Given the description of an element on the screen output the (x, y) to click on. 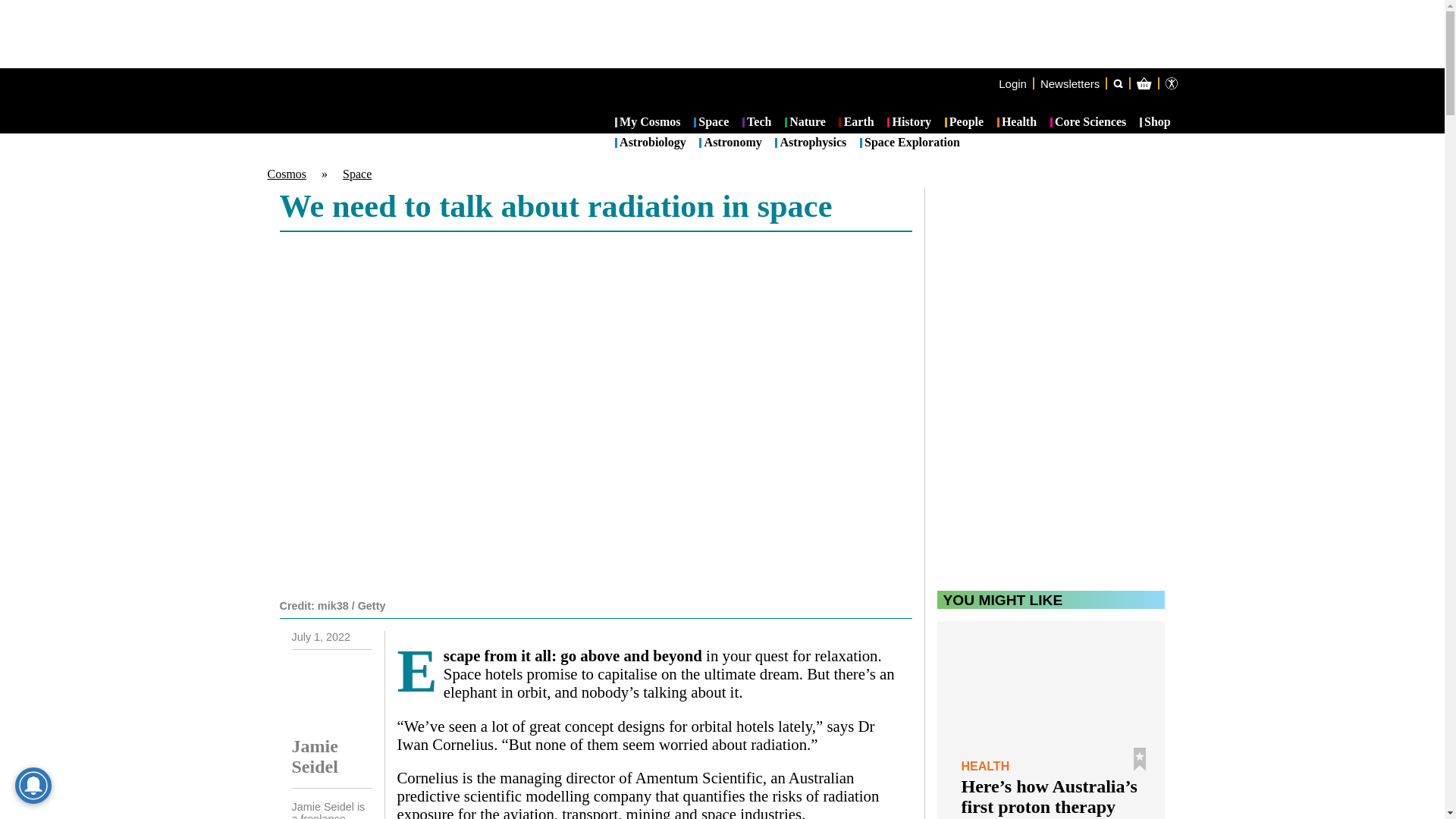
Nature (804, 122)
Astrobiology (649, 143)
Earth (855, 122)
Space Exploration (909, 143)
History (908, 122)
Space (356, 173)
Astronomy (729, 143)
Health (1016, 122)
People (964, 122)
Tech (756, 122)
